Given the description of an element on the screen output the (x, y) to click on. 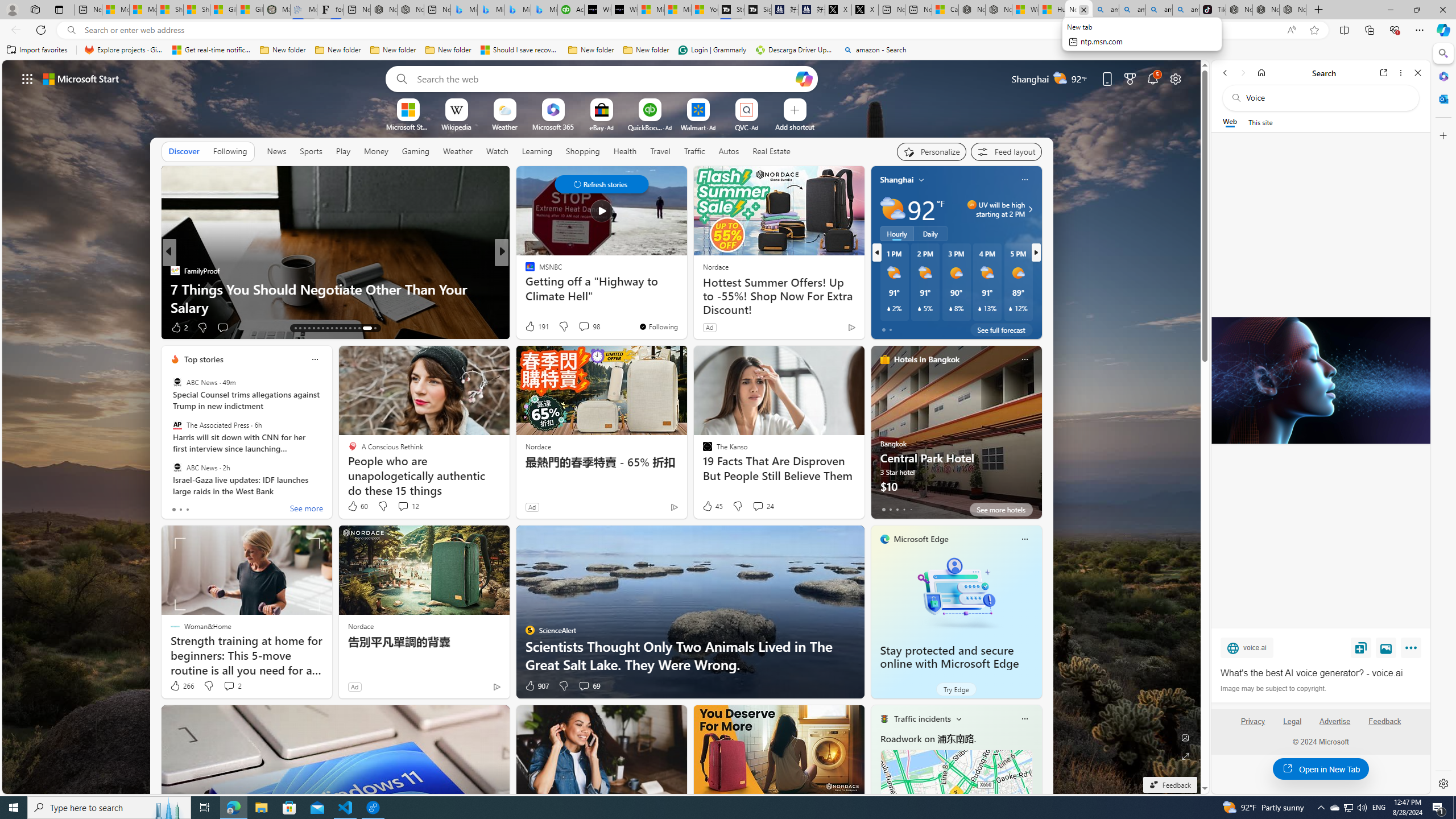
View comments 98 Comment (588, 326)
Sports (310, 151)
Accounting Software for Accountants, CPAs and Bookkeepers (571, 9)
Class: weather-arrow-glyph (1029, 208)
AutomationID: tab-28 (366, 328)
Expand background (1185, 756)
AutomationID: tab-26 (354, 328)
Huge shark washes ashore at New York City beach | Watch (1051, 9)
AutomationID: tab-25 (349, 328)
